Given the description of an element on the screen output the (x, y) to click on. 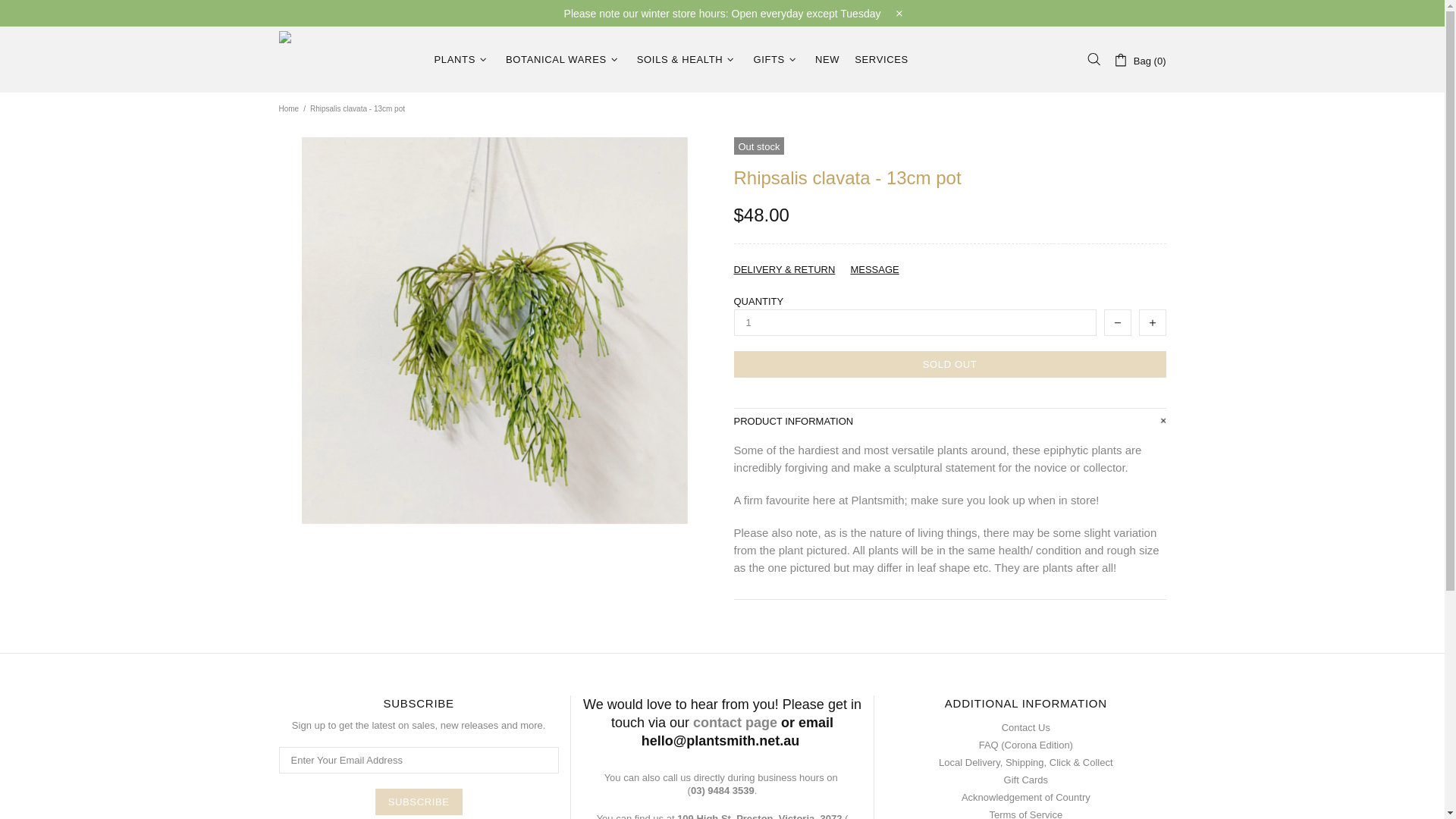
Subscribe (419, 801)
SERVICES (881, 59)
BOTANICAL WARES (562, 59)
Contact Plantsmith (735, 722)
Call via Hangouts (720, 789)
1 (914, 322)
Plantsmith Location Map (759, 815)
Plantsmith (346, 59)
PLANTS (461, 59)
GIFTS (776, 59)
